Given the description of an element on the screen output the (x, y) to click on. 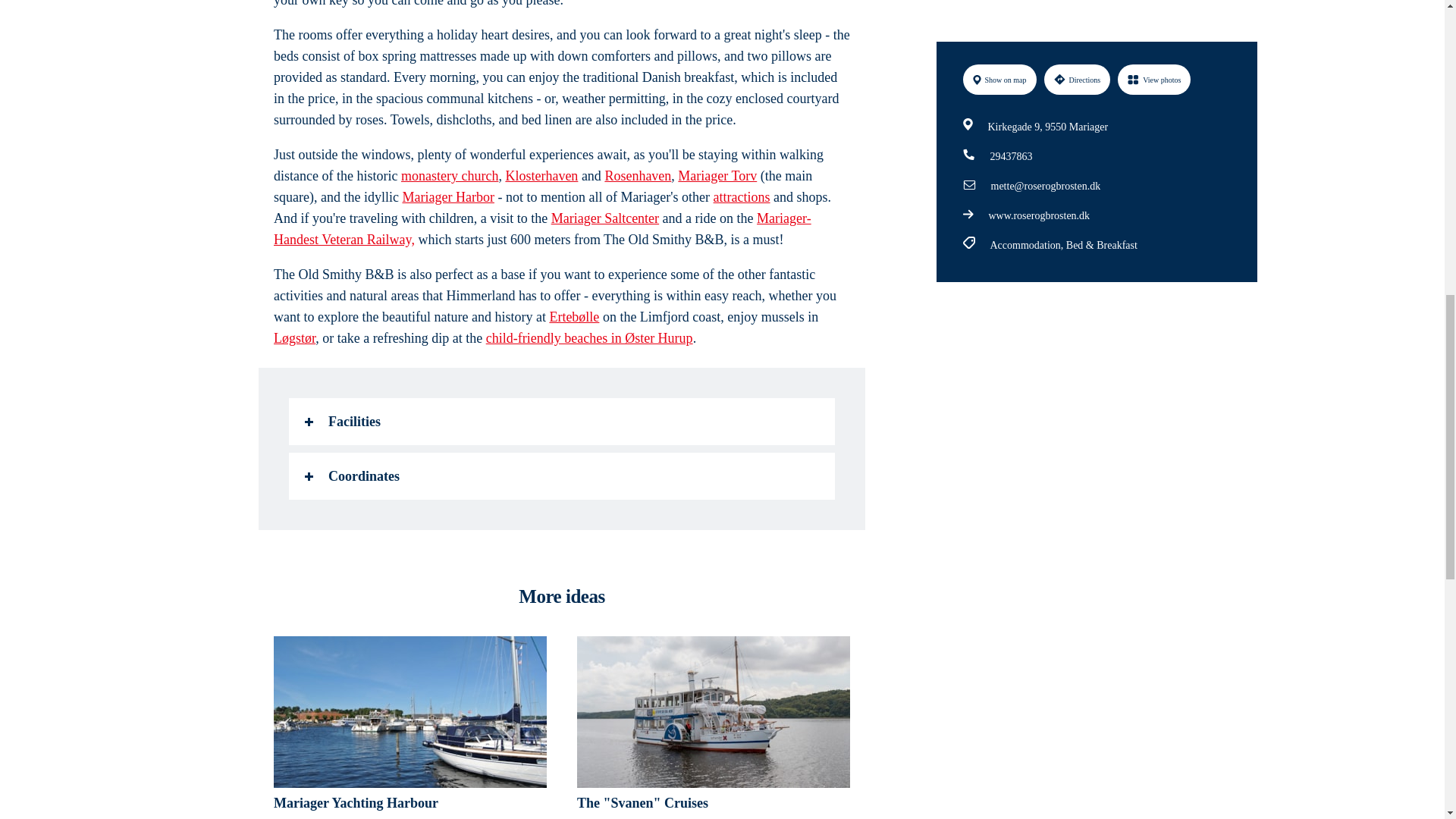
attractions (741, 196)
monastery church (449, 175)
The "Svanen" Cruises (713, 727)
Mariager Saltcenter (605, 218)
Klosterhaven (541, 175)
Mariager Yachting Harbour (410, 727)
Coordinates (561, 475)
Rosenhaven (637, 175)
Facilities (561, 421)
Mariager-Handest Veteran Railway, (541, 228)
